Given the description of an element on the screen output the (x, y) to click on. 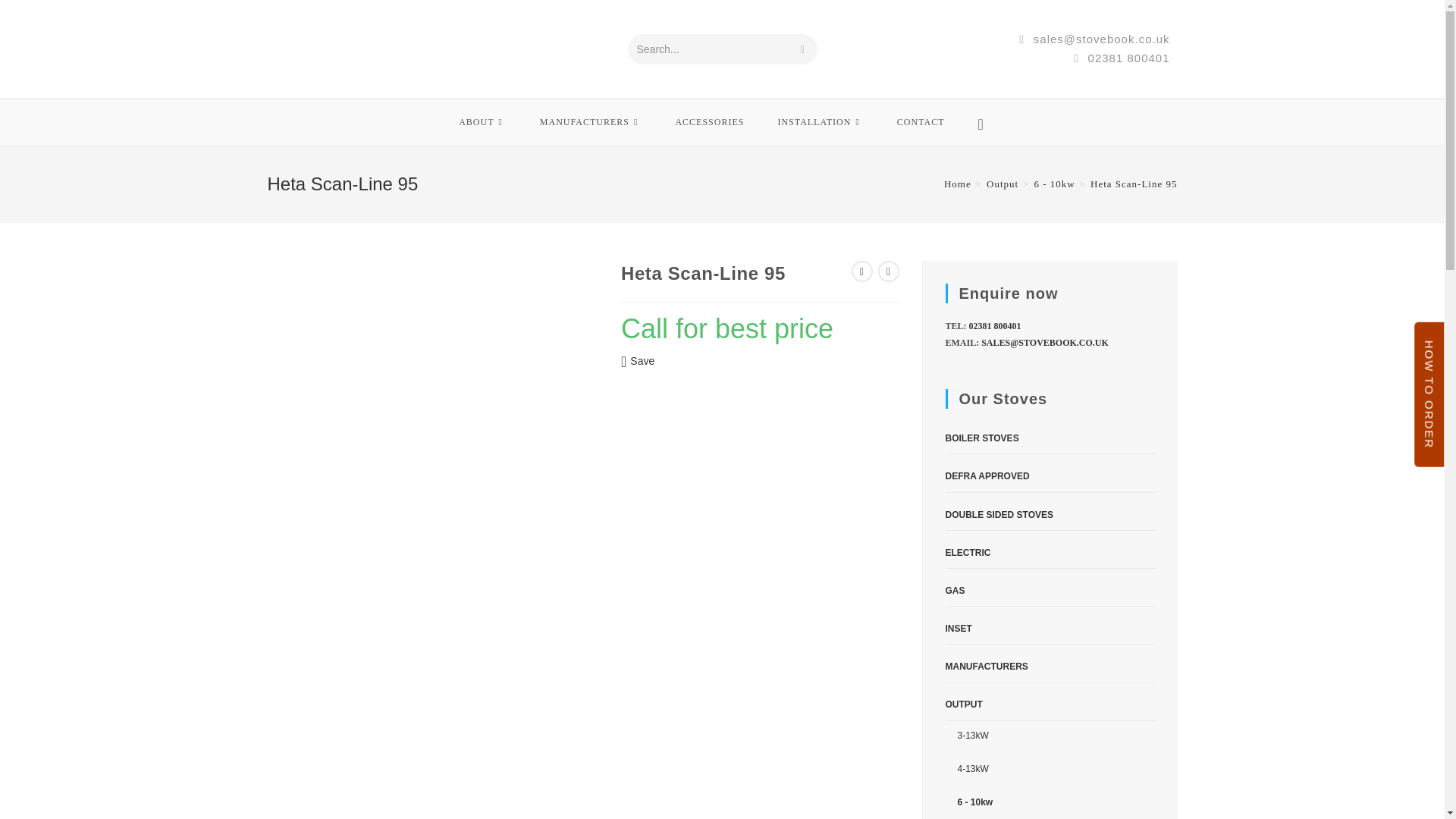
CONTACT (920, 121)
ACCESSORIES (709, 121)
ABOUT (482, 121)
02381 800401 (1121, 58)
INSTALLATION (819, 121)
MANUFACTURERS (590, 121)
